Given the description of an element on the screen output the (x, y) to click on. 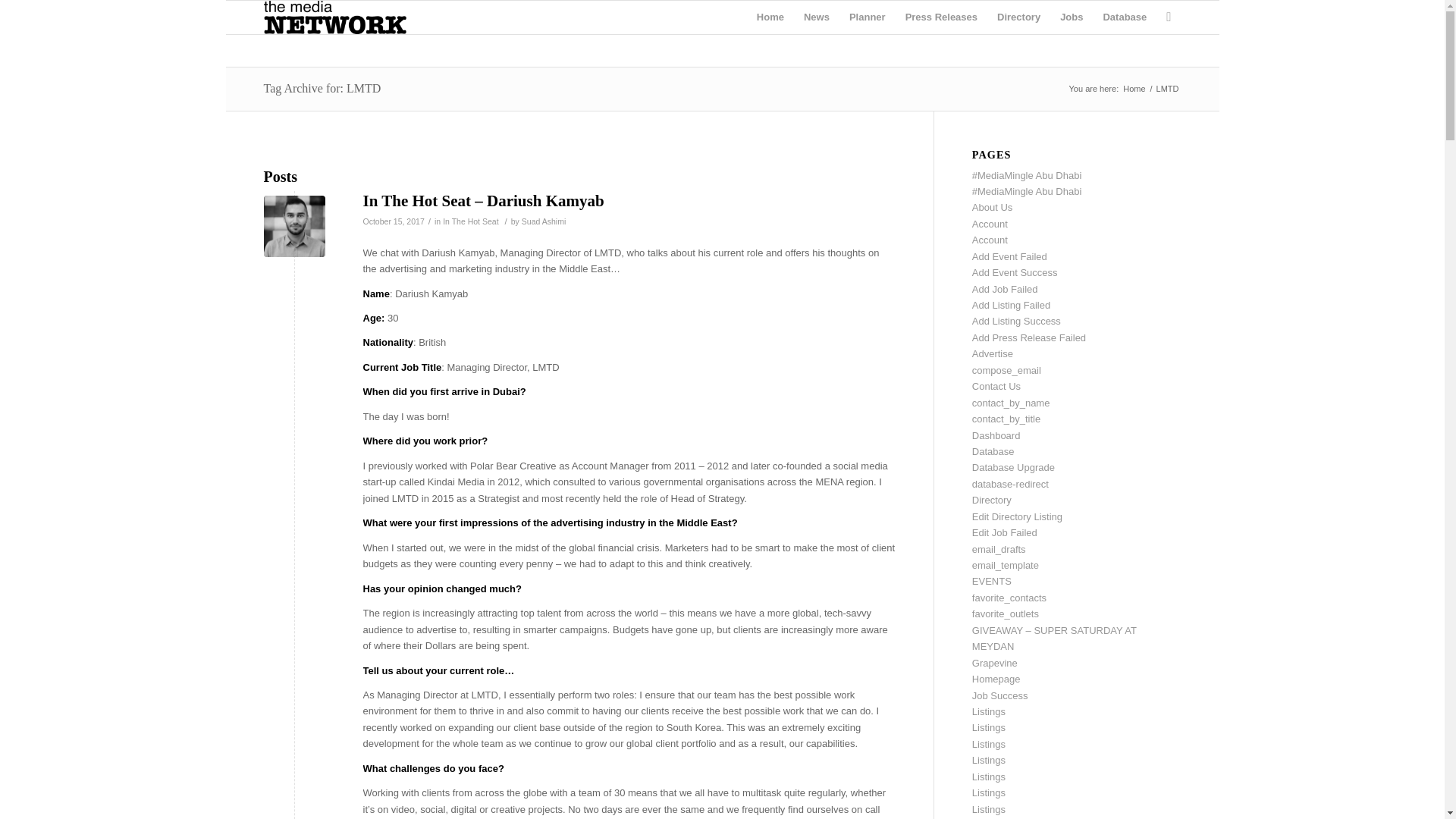
Suad Ashimi (543, 221)
Permanent Link: Tag Archive for: LMTD (322, 88)
News (816, 17)
In The Hot Seat (469, 221)
Tag Archive for: LMTD (322, 88)
Home (769, 17)
Posts by Suad Ashimi (543, 221)
Press Releases (941, 17)
Planner (867, 17)
